Given the description of an element on the screen output the (x, y) to click on. 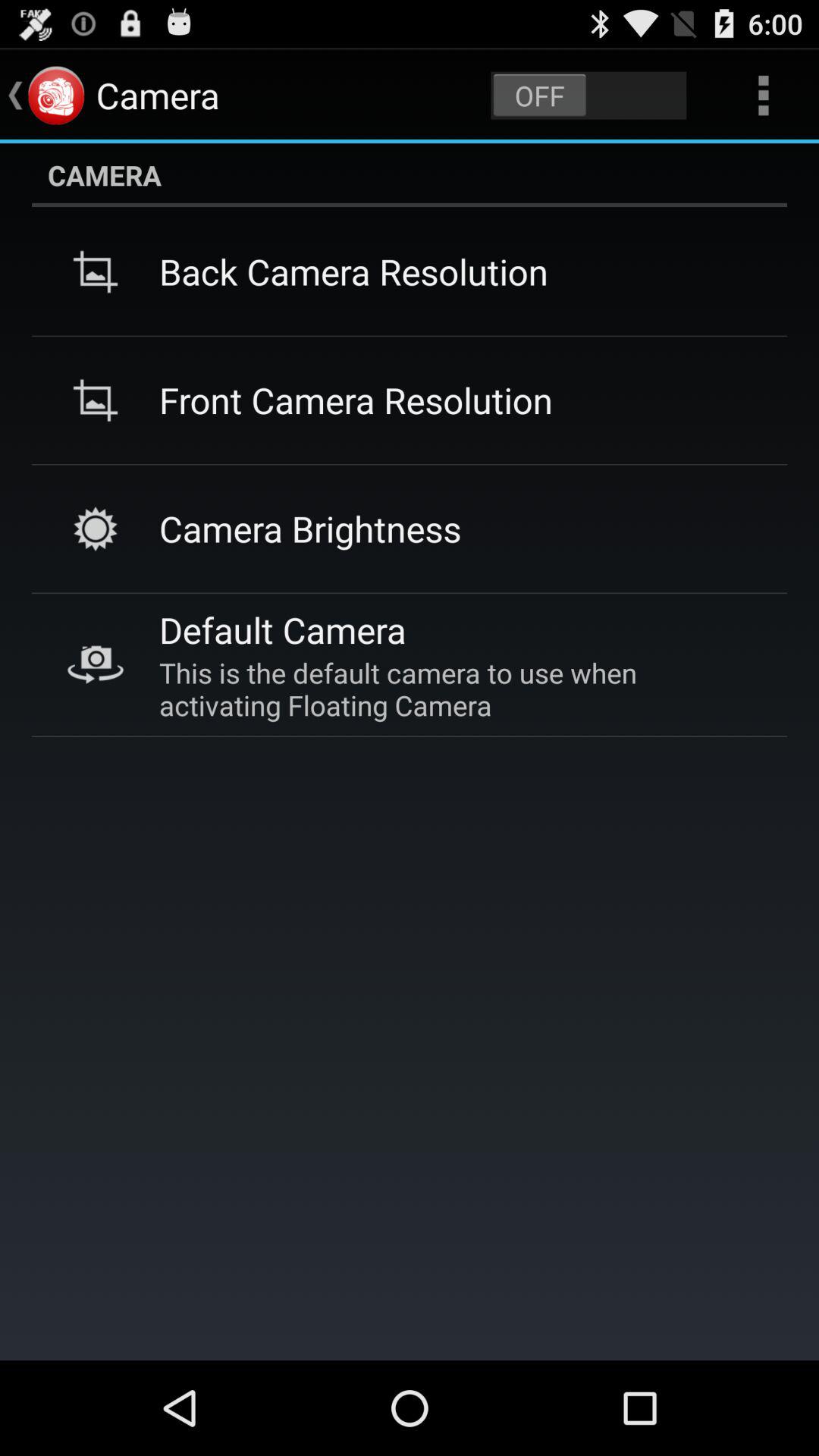
launch icon below the front camera resolution app (310, 528)
